Given the description of an element on the screen output the (x, y) to click on. 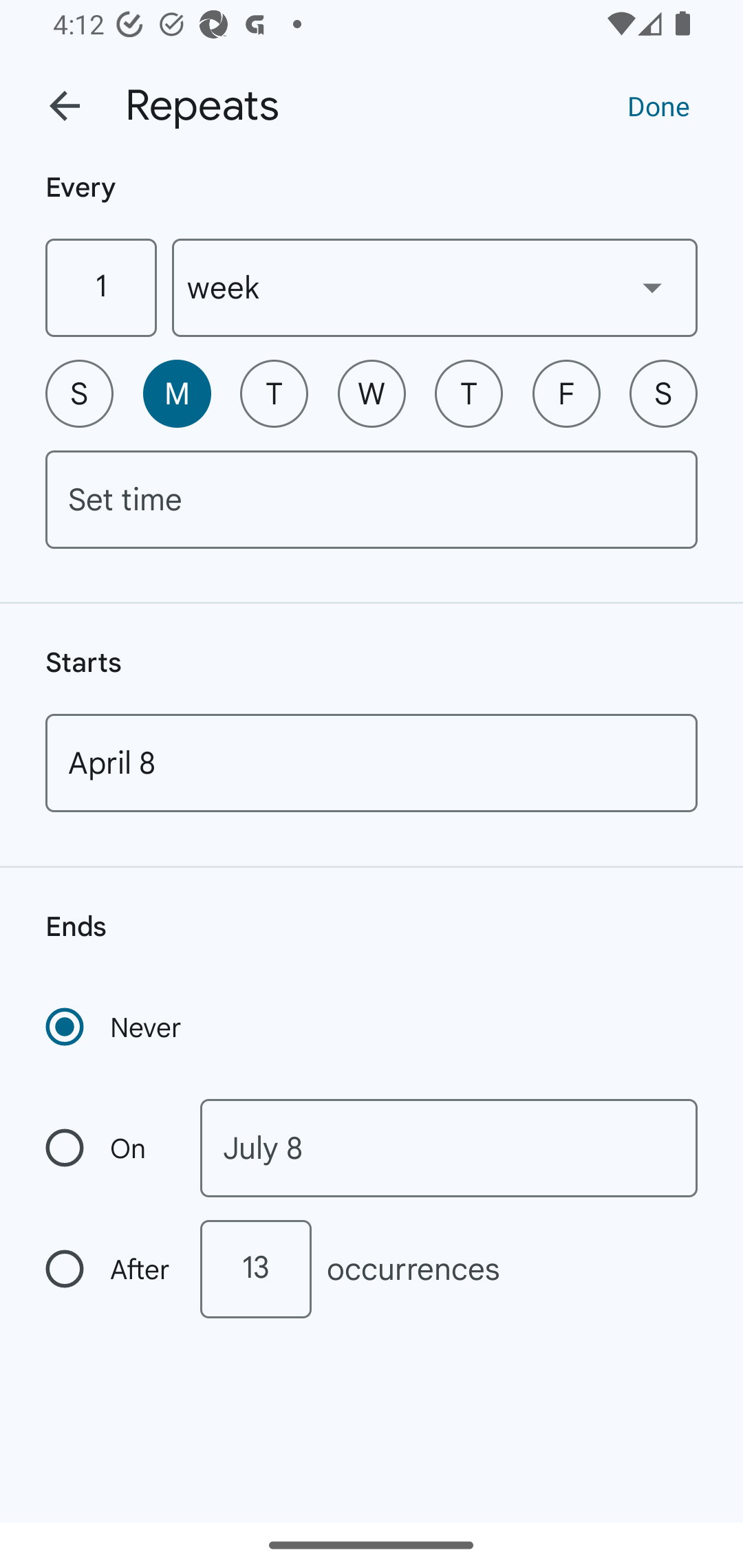
Back (64, 105)
Done (658, 105)
1 (100, 287)
week (434, 287)
Show dropdown menu (652, 286)
S Sunday (79, 393)
M Monday, selected (177, 393)
T Tuesday (273, 393)
W Wednesday (371, 393)
T Thursday (468, 393)
F Friday (566, 393)
S Saturday (663, 393)
Set time (371, 499)
April 8 (371, 762)
Never Recurrence never ends (115, 1026)
July 8 (448, 1148)
On Recurrence ends on a specific date (109, 1148)
13 (255, 1268)
